Given the description of an element on the screen output the (x, y) to click on. 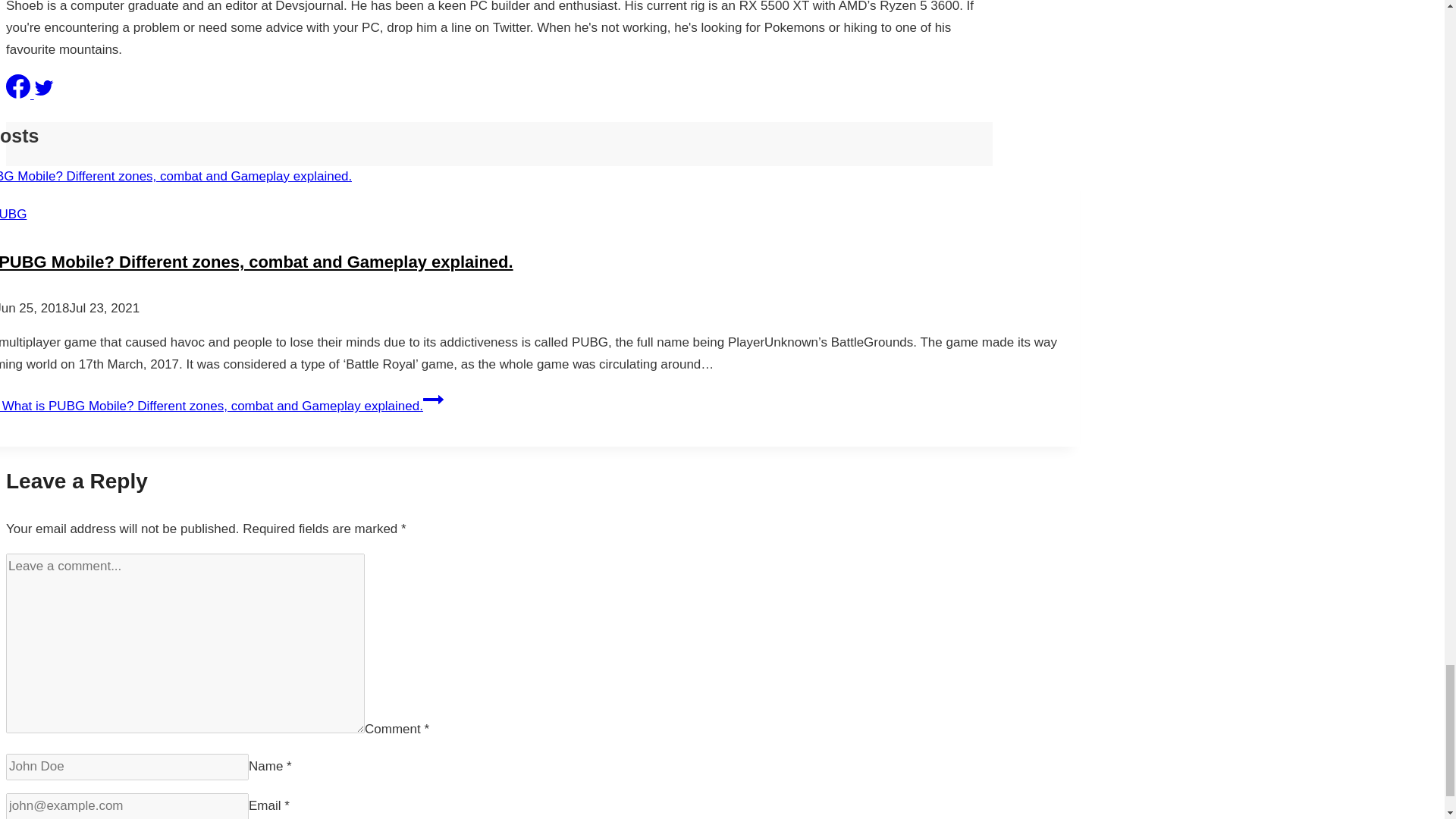
Facebook (17, 86)
Follow Shoeb on Twitter (43, 93)
Twitter (43, 87)
Follow Shoeb on Facebook (19, 93)
Continue (433, 399)
